Given the description of an element on the screen output the (x, y) to click on. 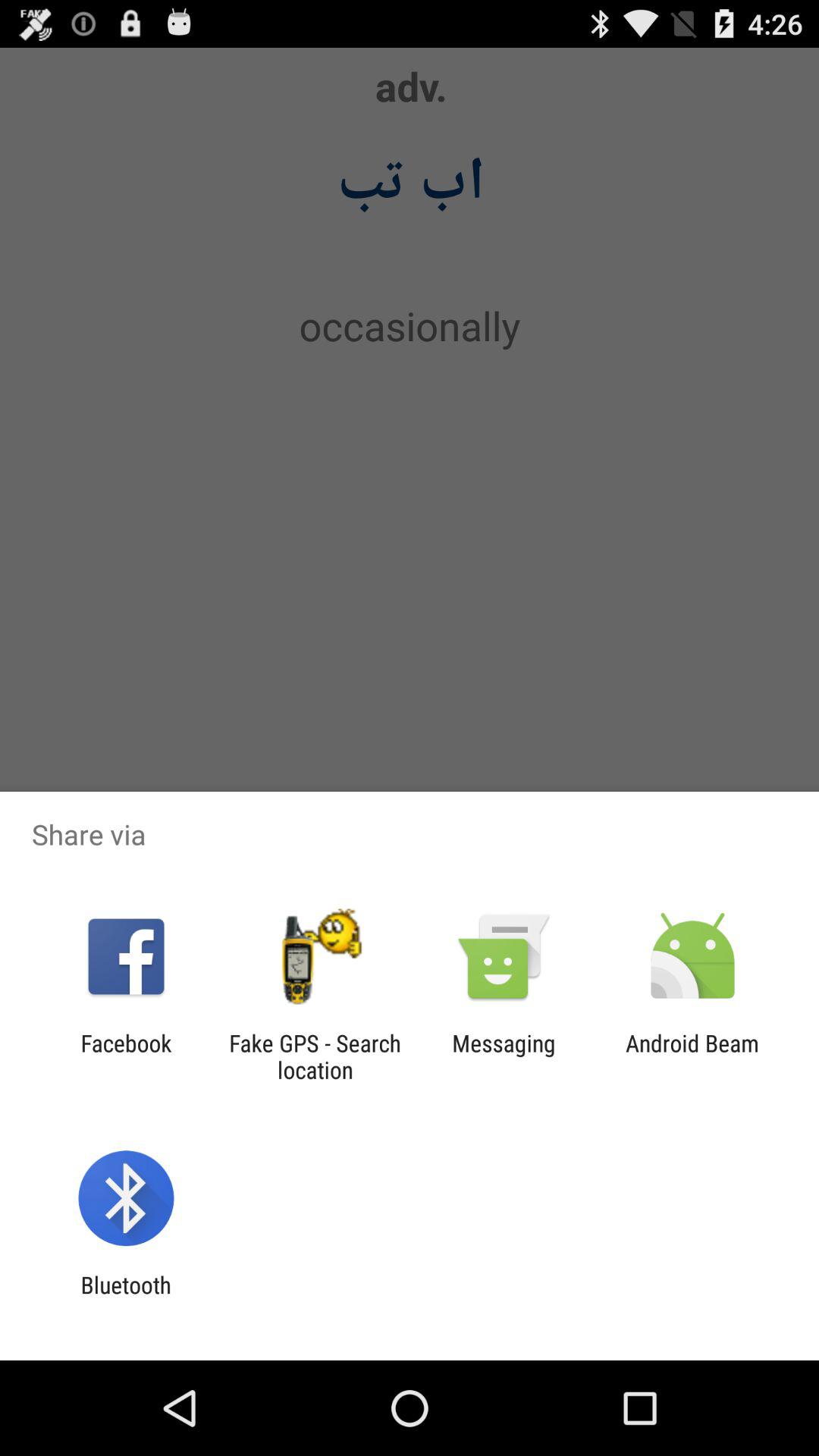
choose the icon next to messaging app (314, 1056)
